Given the description of an element on the screen output the (x, y) to click on. 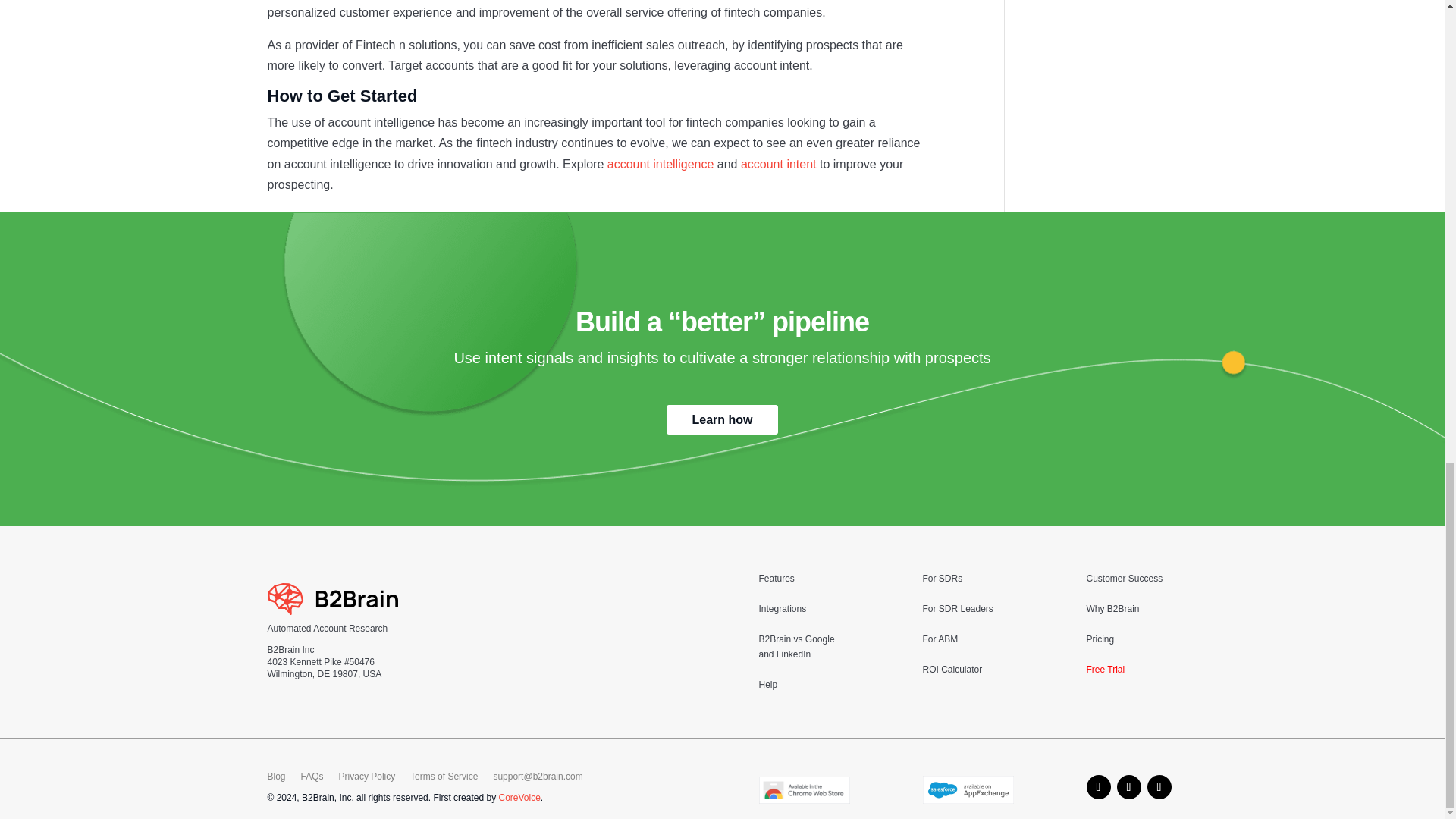
b2brain logo full (331, 599)
Chrome (803, 789)
Follow on LinkedIn (1128, 786)
Follow on Youtube (1097, 786)
Follow on X (1158, 786)
